Given the description of an element on the screen output the (x, y) to click on. 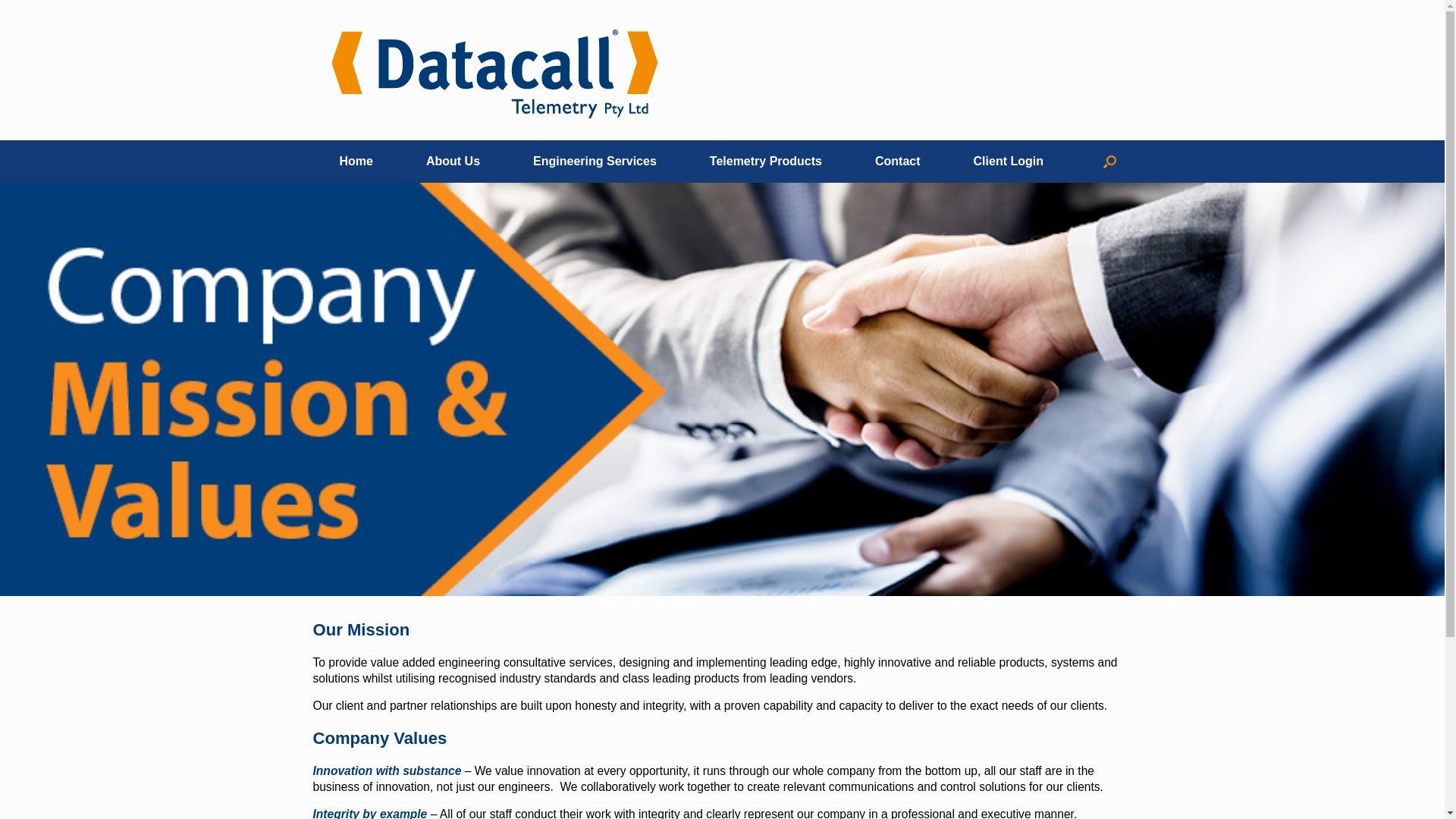
Telemetry Products Element type: text (765, 161)
Datacall Telemetry Element type: hover (493, 69)
Engineering Services Element type: text (594, 161)
Contact Element type: text (897, 161)
Home Element type: text (355, 161)
About Us Element type: text (452, 161)
Client Login Element type: text (1008, 161)
